Given the description of an element on the screen output the (x, y) to click on. 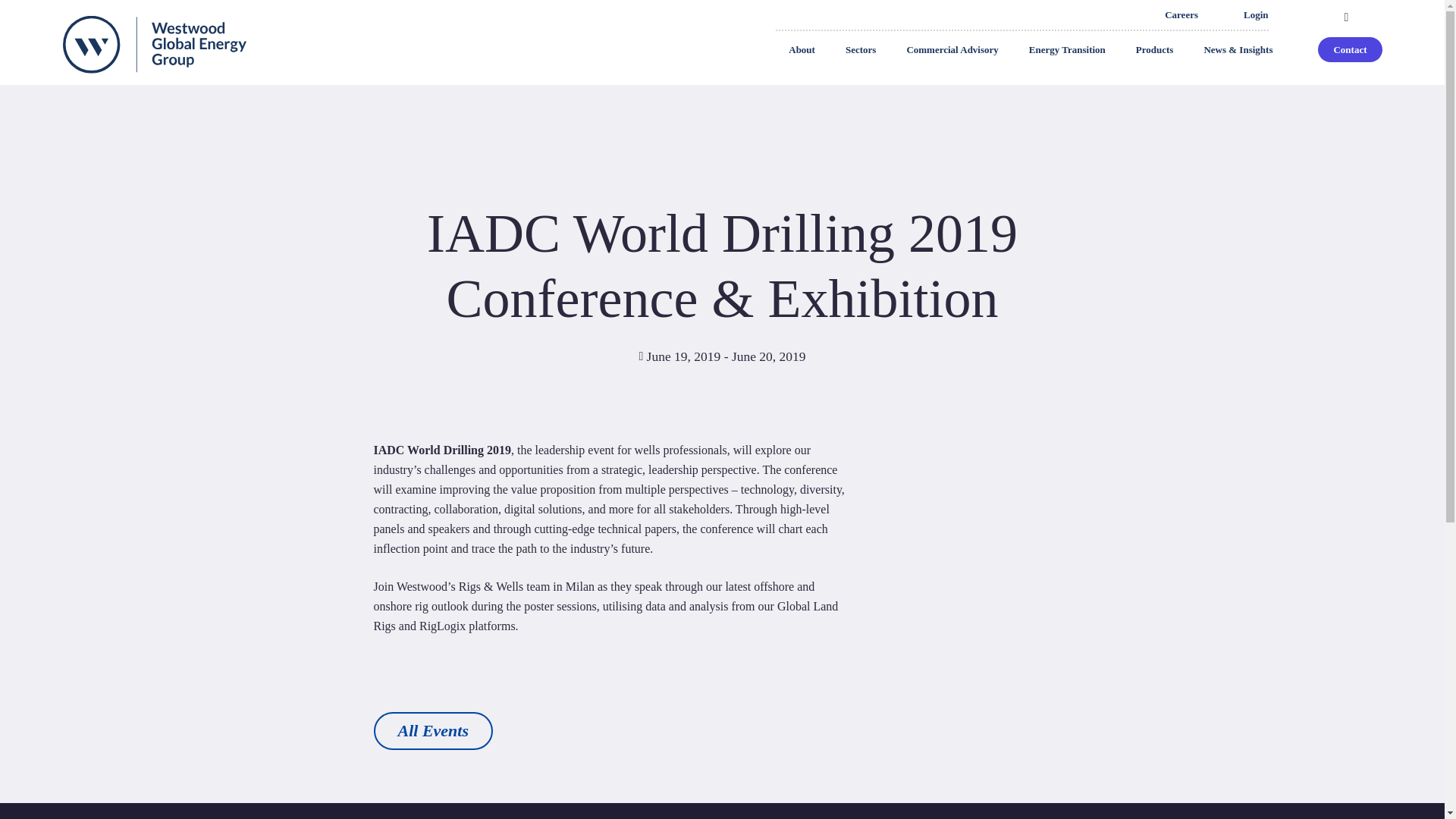
Products (1155, 49)
Commercial Advisory (952, 49)
About (801, 49)
Login (1255, 15)
Energy Transition (1067, 49)
Careers (1181, 15)
Sectors (860, 49)
